Given the description of an element on the screen output the (x, y) to click on. 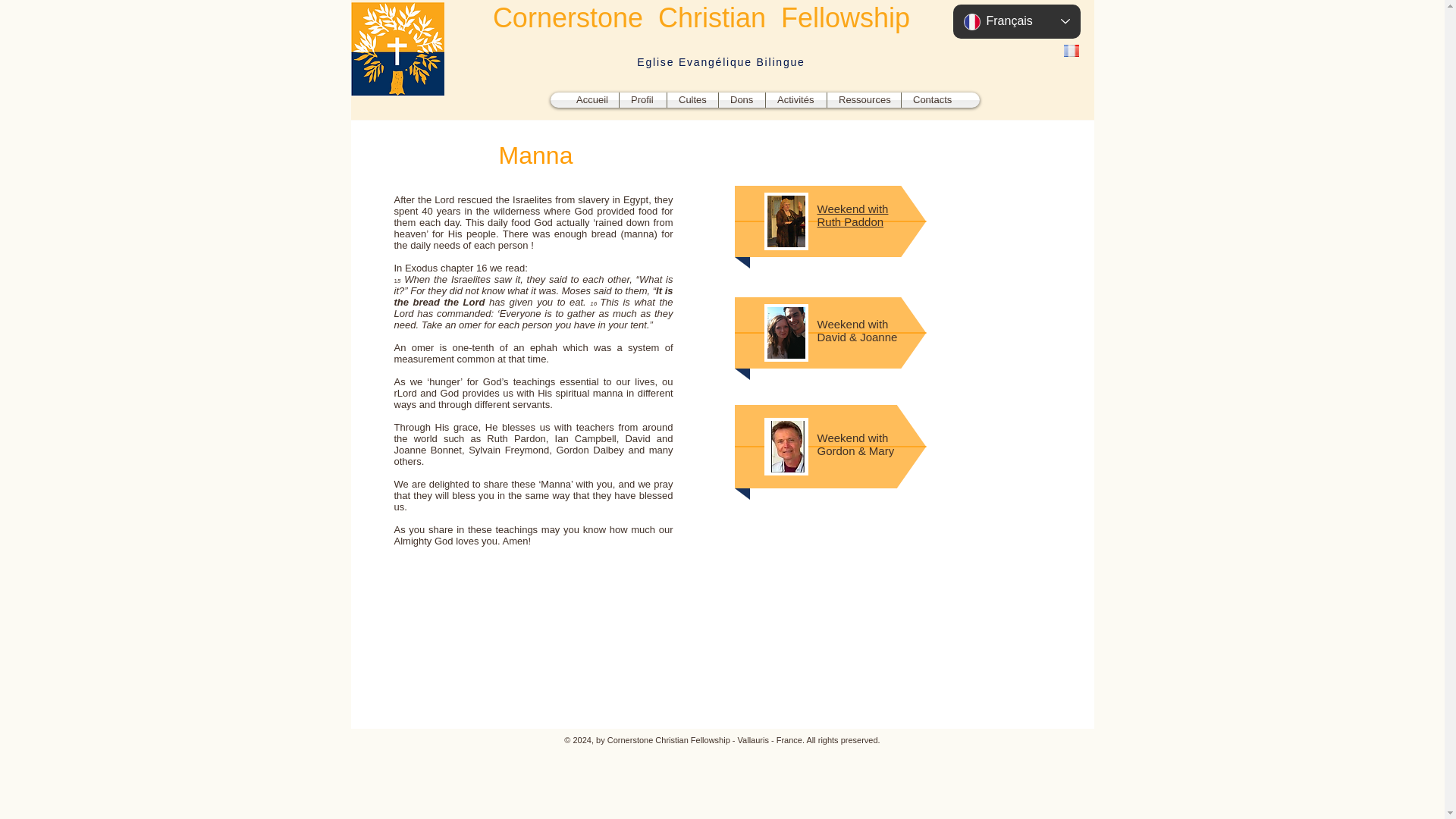
Dons (742, 99)
Weekend with Ruth Paddon (852, 215)
Accueil (591, 99)
